Given the description of an element on the screen output the (x, y) to click on. 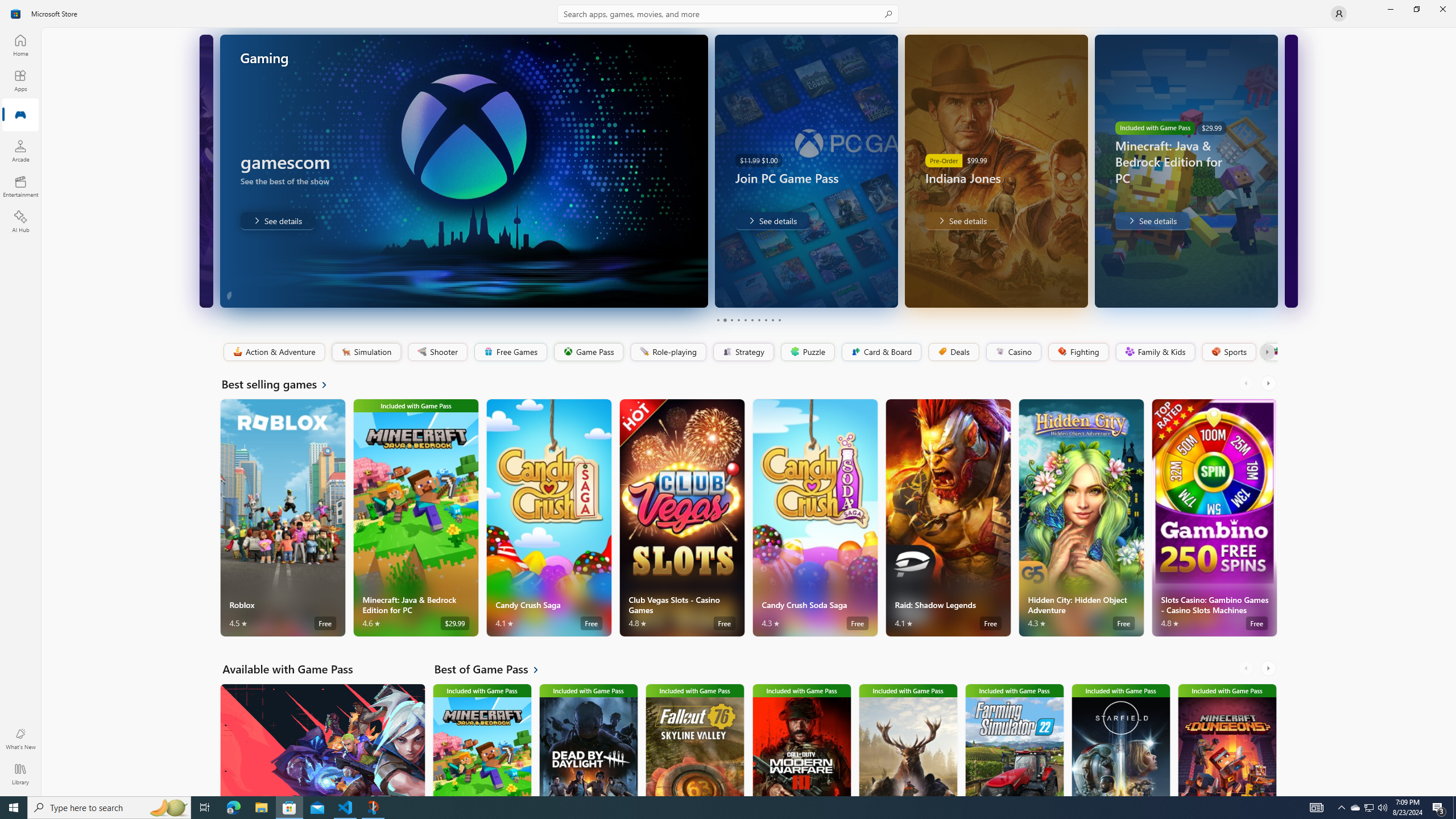
Platformer (1269, 352)
See all  Best of Game Pass (493, 668)
Role-playing (668, 352)
AutomationID: NavigationControl (728, 398)
Pager (748, 319)
Restore Microsoft Store (1416, 9)
Page 1 (717, 319)
